Given the description of an element on the screen output the (x, y) to click on. 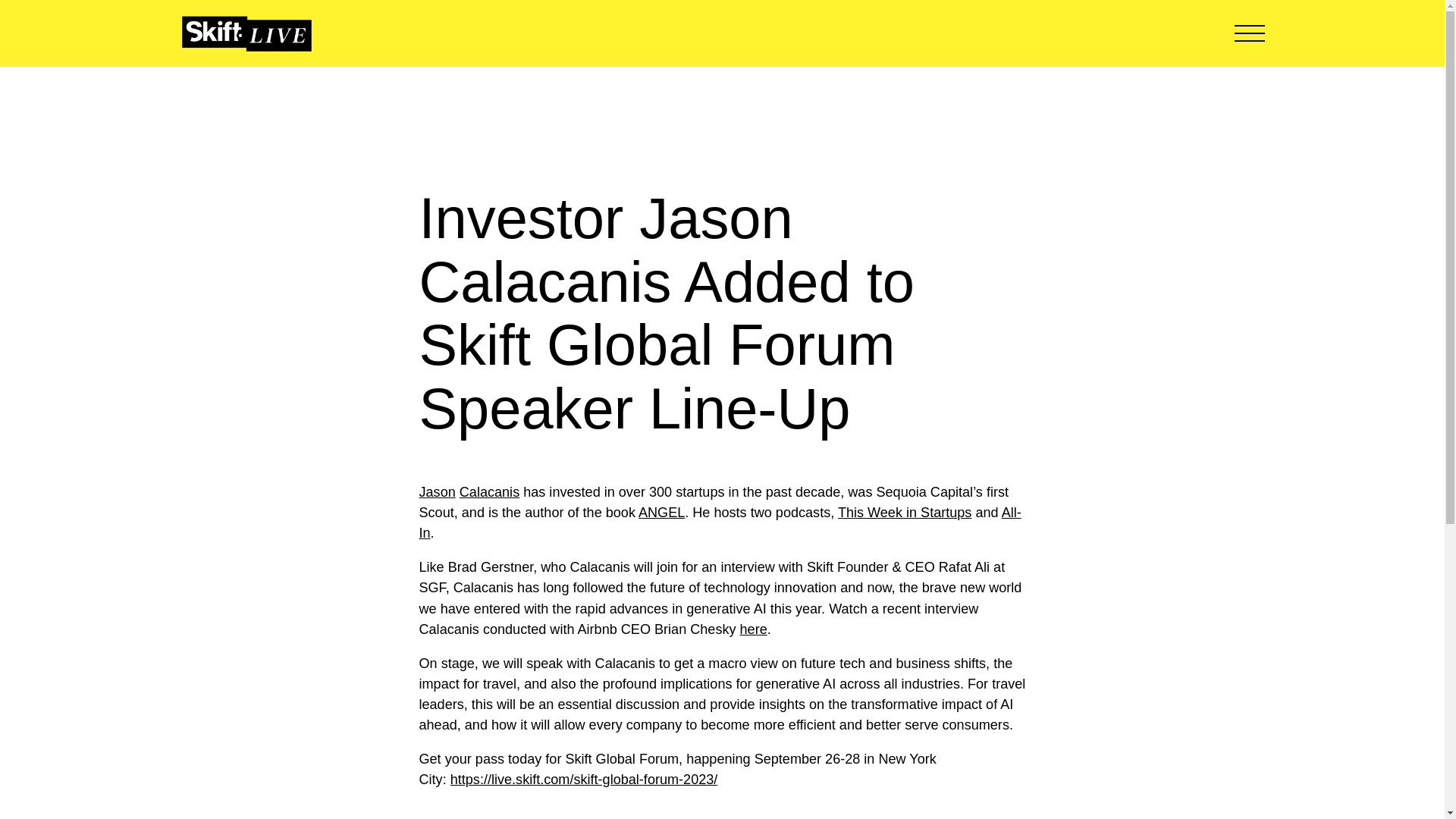
Jason (436, 491)
This Week in Startups (905, 512)
Calacanis (489, 491)
ANGEL (661, 512)
All-In (719, 522)
Menu (1249, 33)
here (753, 629)
